Given the description of an element on the screen output the (x, y) to click on. 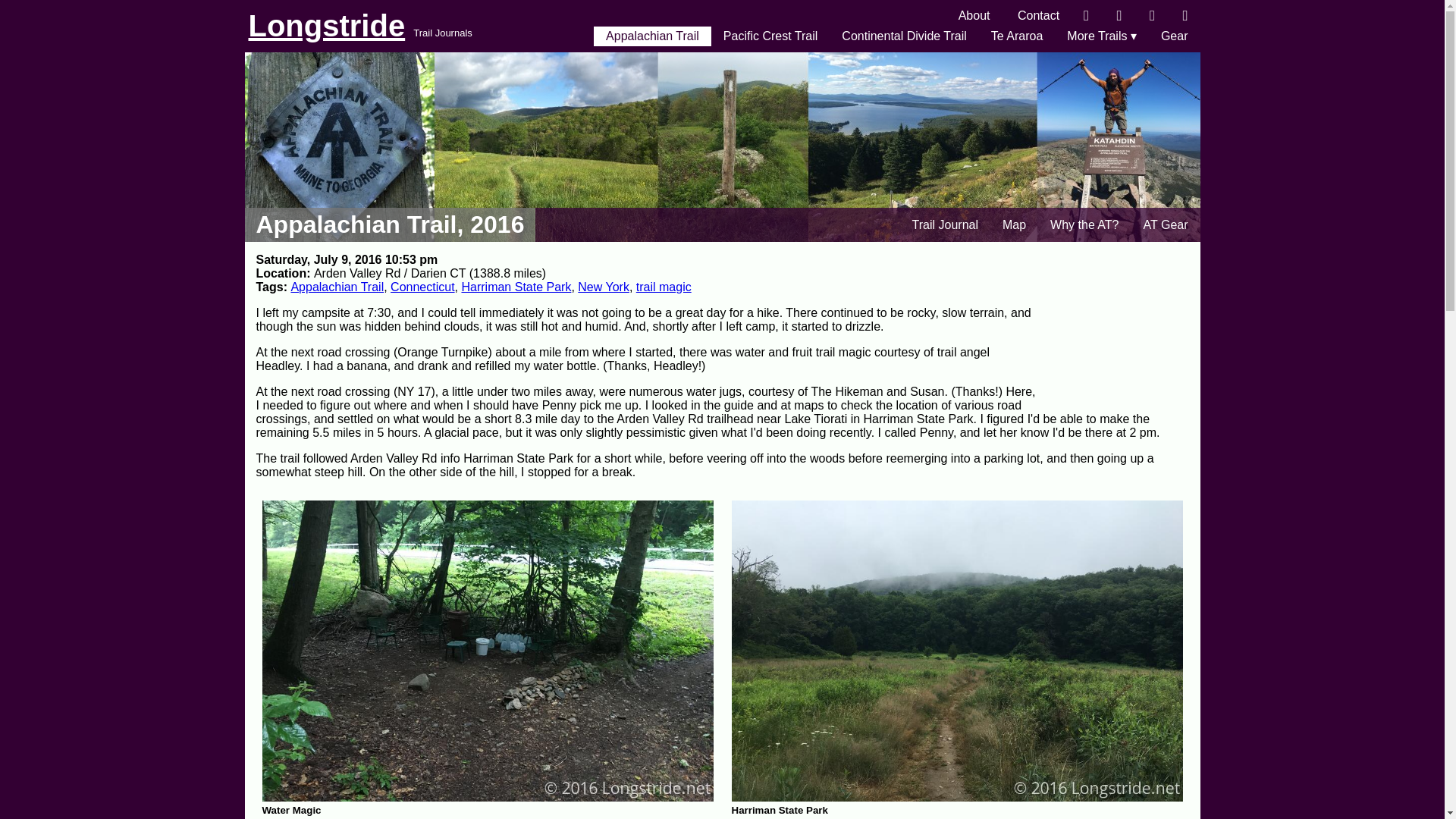
Appalachian Trail (652, 35)
Harriman State Park (515, 286)
trail magic (663, 286)
Appalachian Trail (336, 286)
Pacific Crest Trail (770, 35)
Connecticut (422, 286)
New York (603, 286)
Appalachian Trail, 2016 (390, 224)
Longstride (327, 25)
